Given the description of an element on the screen output the (x, y) to click on. 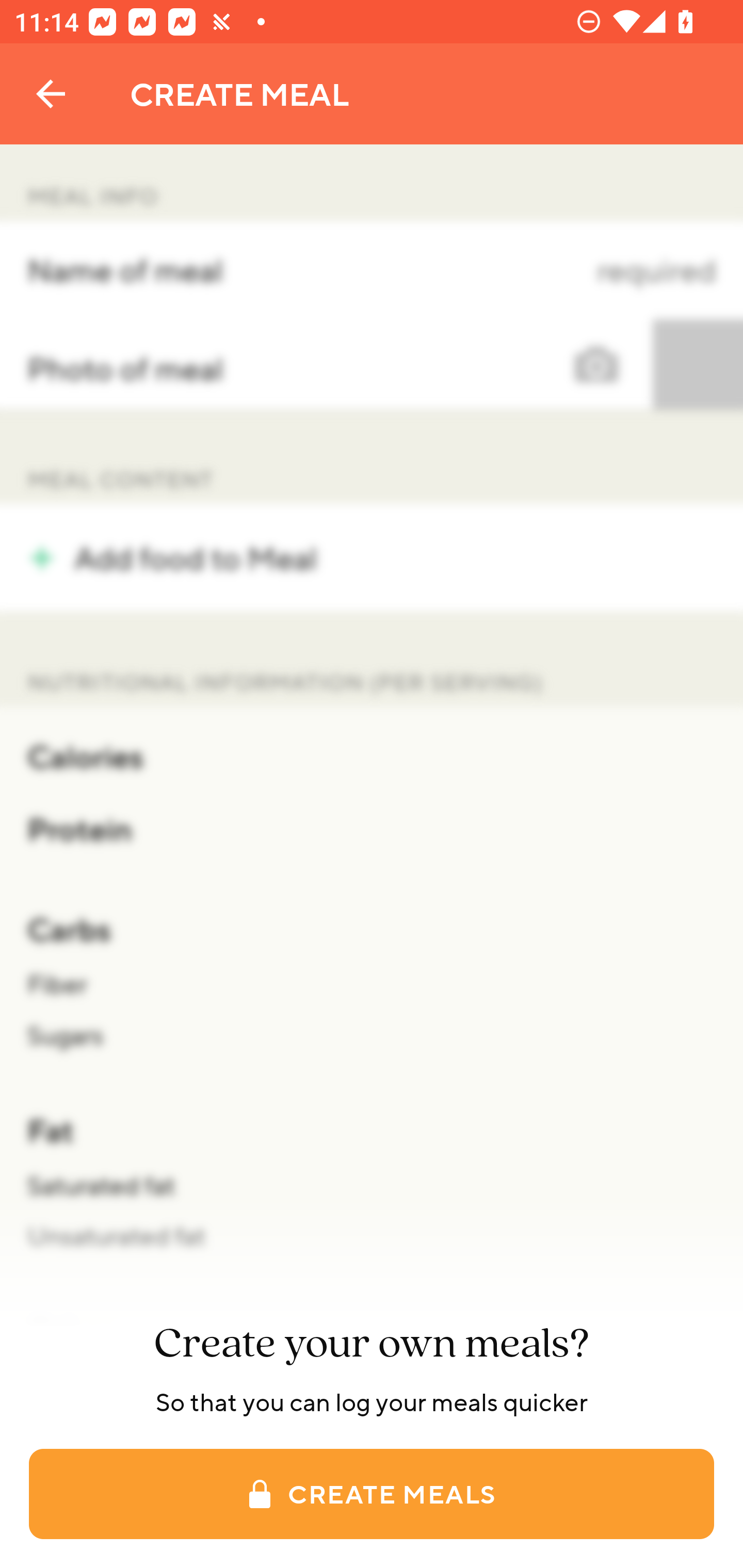
CREATE MEALS (371, 1493)
